Given the description of an element on the screen output the (x, y) to click on. 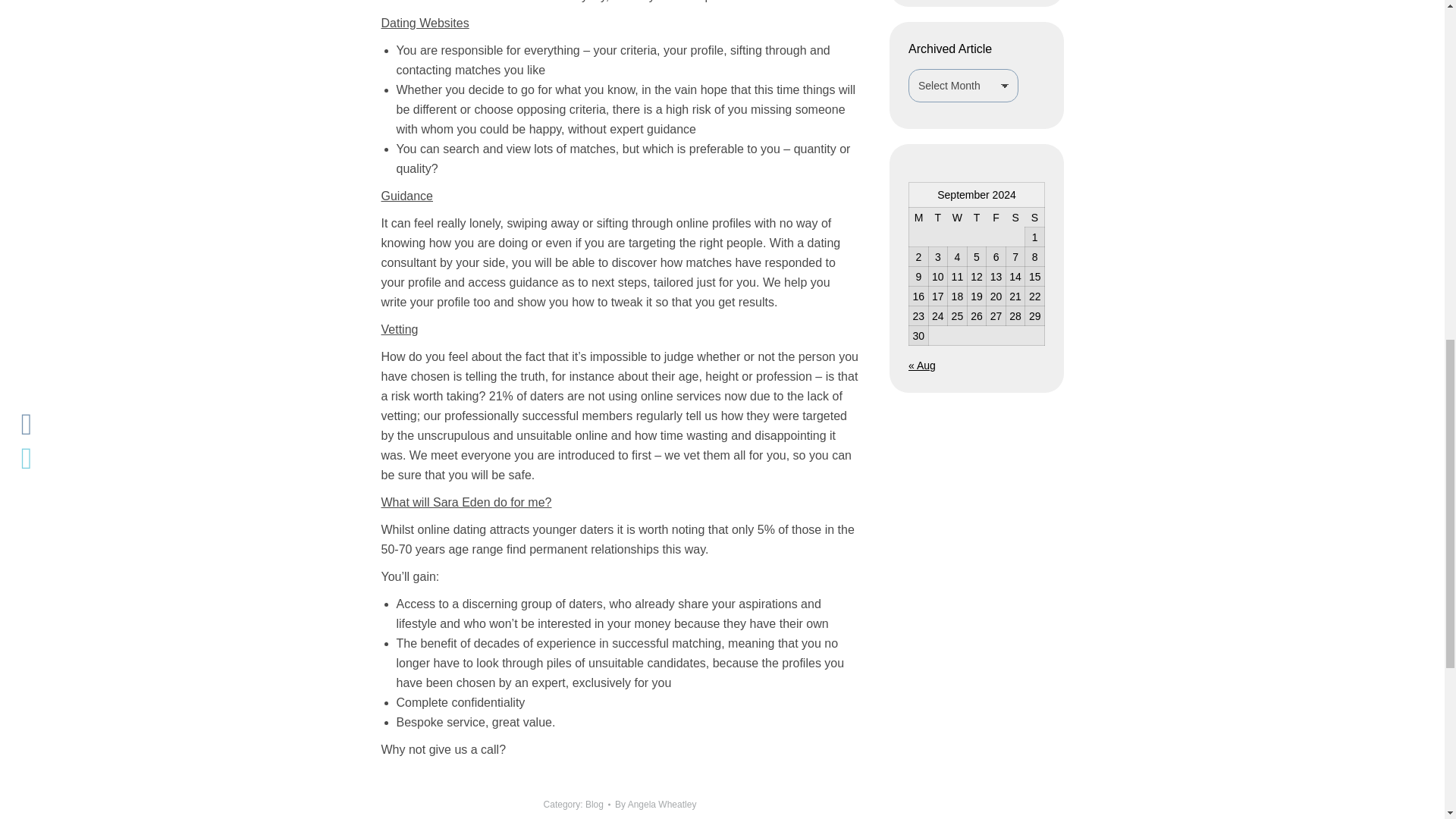
Wednesday (956, 217)
Monday (918, 217)
View all posts by Angela Wheatley (654, 804)
Tuesday (937, 217)
